Given the description of an element on the screen output the (x, y) to click on. 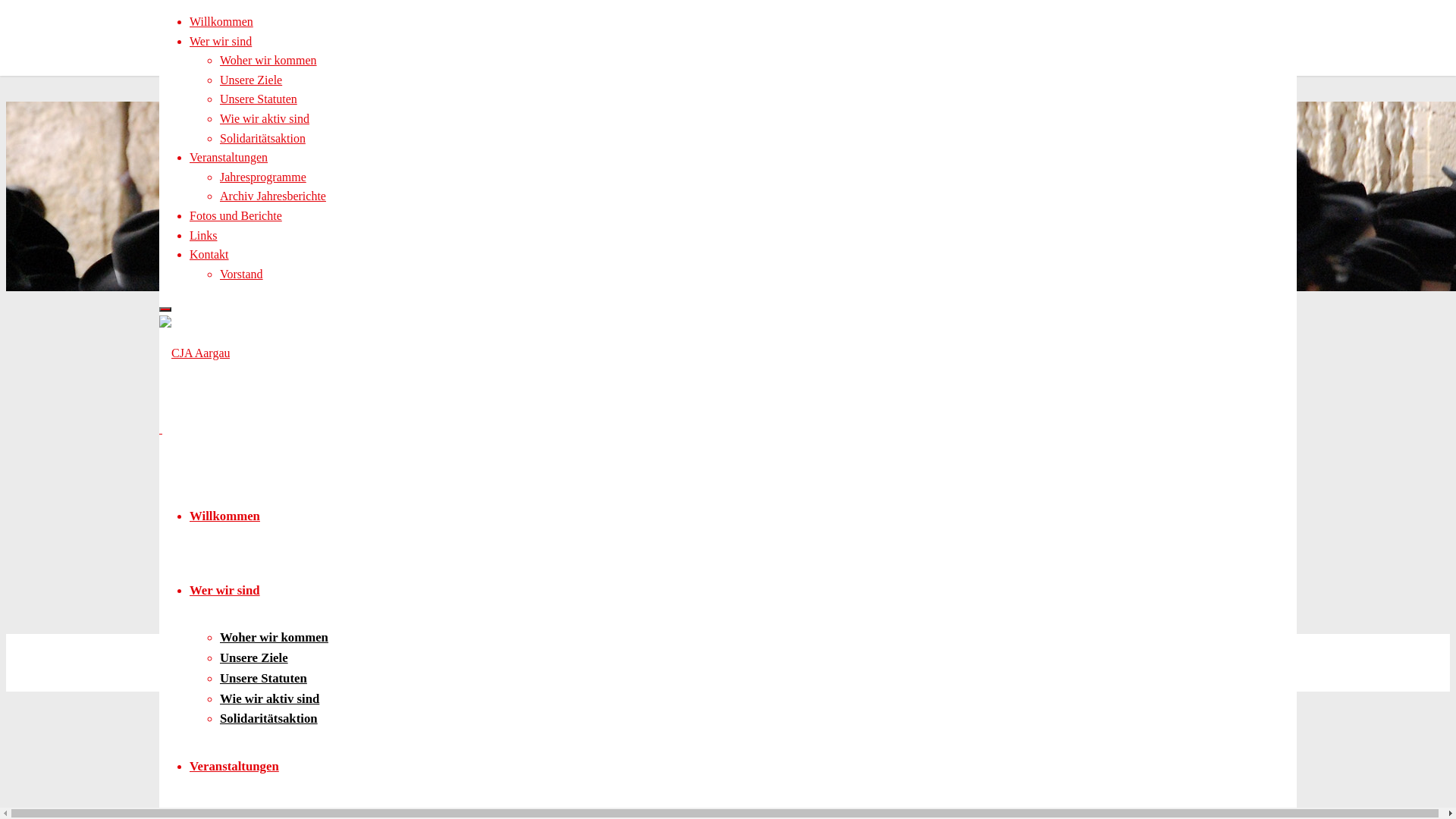
Willkommen Element type: text (224, 515)
Unsere Statuten Element type: text (258, 98)
  Element type: text (160, 428)
Fotos und Berichte Element type: text (235, 215)
Unsere Ziele Element type: text (253, 657)
Wie wir aktiv sind Element type: text (269, 698)
CJA Aargau Element type: hover (194, 352)
Woher wir kommen Element type: text (267, 59)
Previous image Element type: text (310, 604)
Willkommen Element type: text (221, 21)
Veranstaltungen Element type: text (234, 766)
Skip to content Element type: text (42, 15)
Veranstaltungen Element type: text (228, 156)
Unsere Statuten Element type: text (263, 678)
Jahresprogramme Element type: text (262, 176)
kontakt@cjaaargau.ch Element type: text (213, 681)
Unsere Ziele Element type: text (250, 79)
Kontakt Element type: text (209, 253)
Back to Top Element type: text (188, 643)
Woher wir kommen Element type: text (273, 637)
Links Element type: text (202, 235)
Archiv Jahresberichte Element type: text (272, 195)
Next image Element type: text (301, 623)
Wer wir sind Element type: text (220, 40)
Wie wir aktiv sind Element type: text (264, 118)
Vorstand Element type: text (241, 273)
Wer wir sind Element type: text (224, 590)
